Given the description of an element on the screen output the (x, y) to click on. 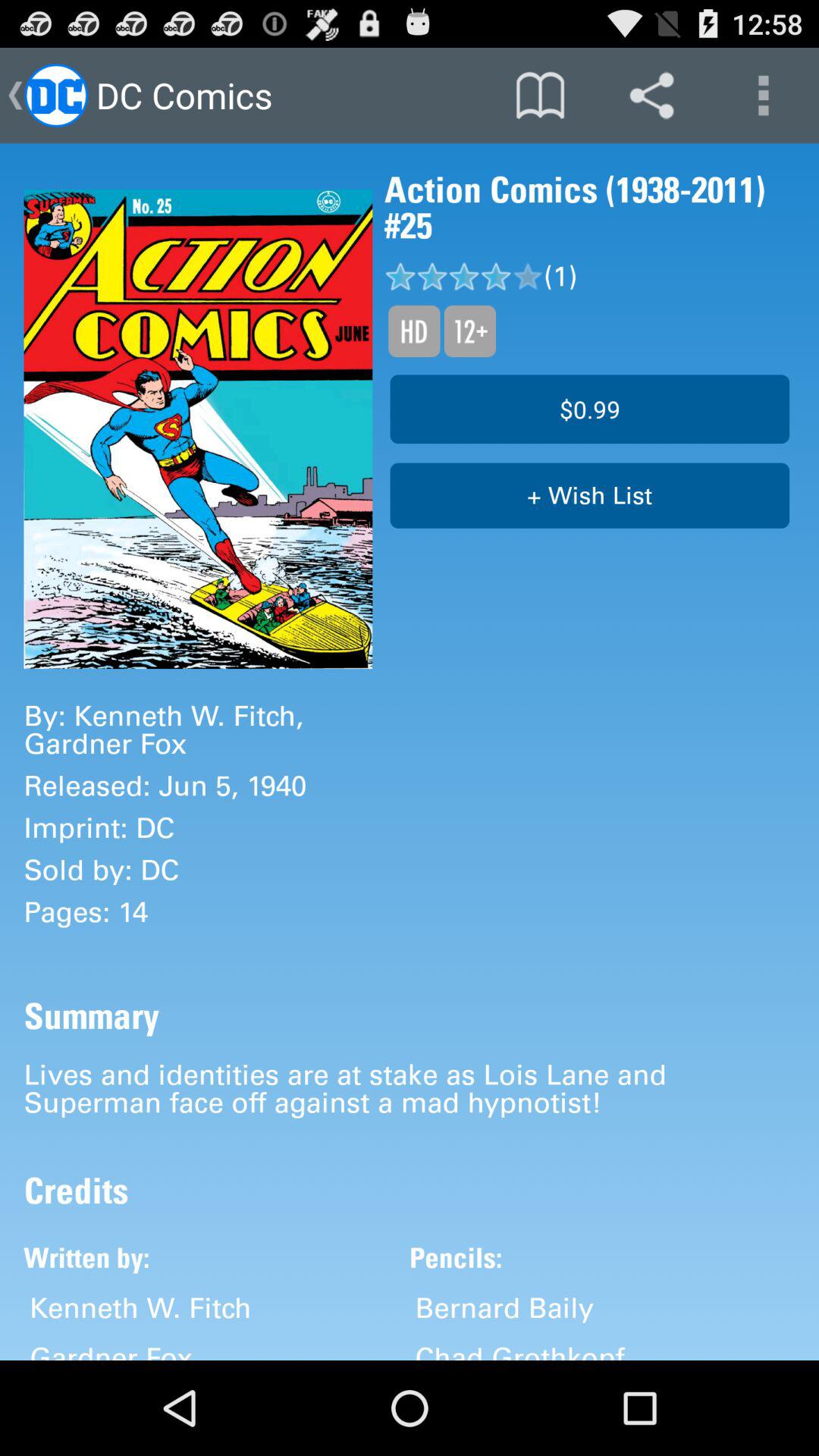
turn on the icon to the left of (1) item (469, 331)
